Given the description of an element on the screen output the (x, y) to click on. 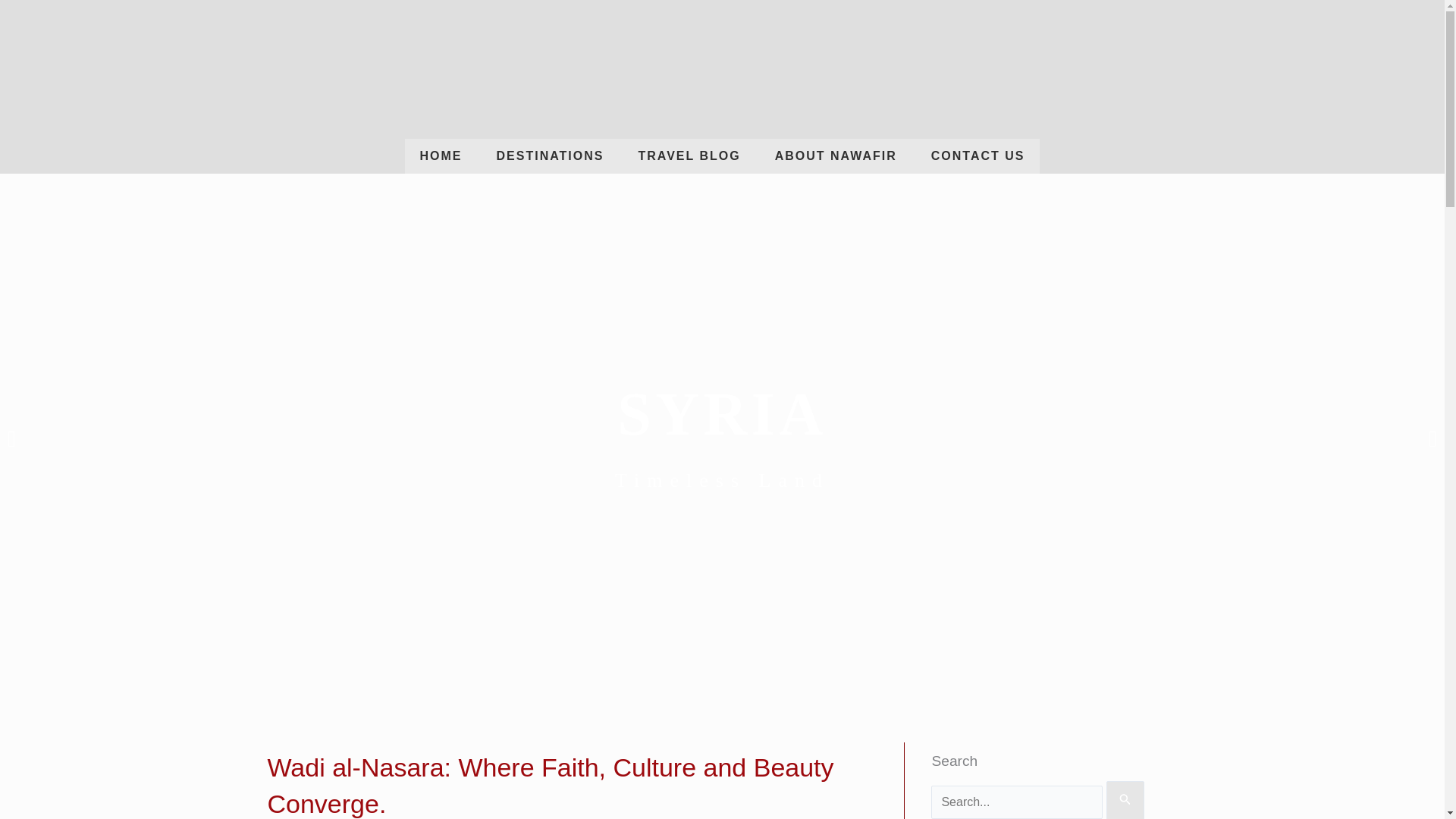
TRAVEL BLOG (689, 155)
HOME (440, 155)
DESTINATIONS (550, 155)
ABOUT NAWAFIR (836, 155)
CONTACT US (978, 155)
